Given the description of an element on the screen output the (x, y) to click on. 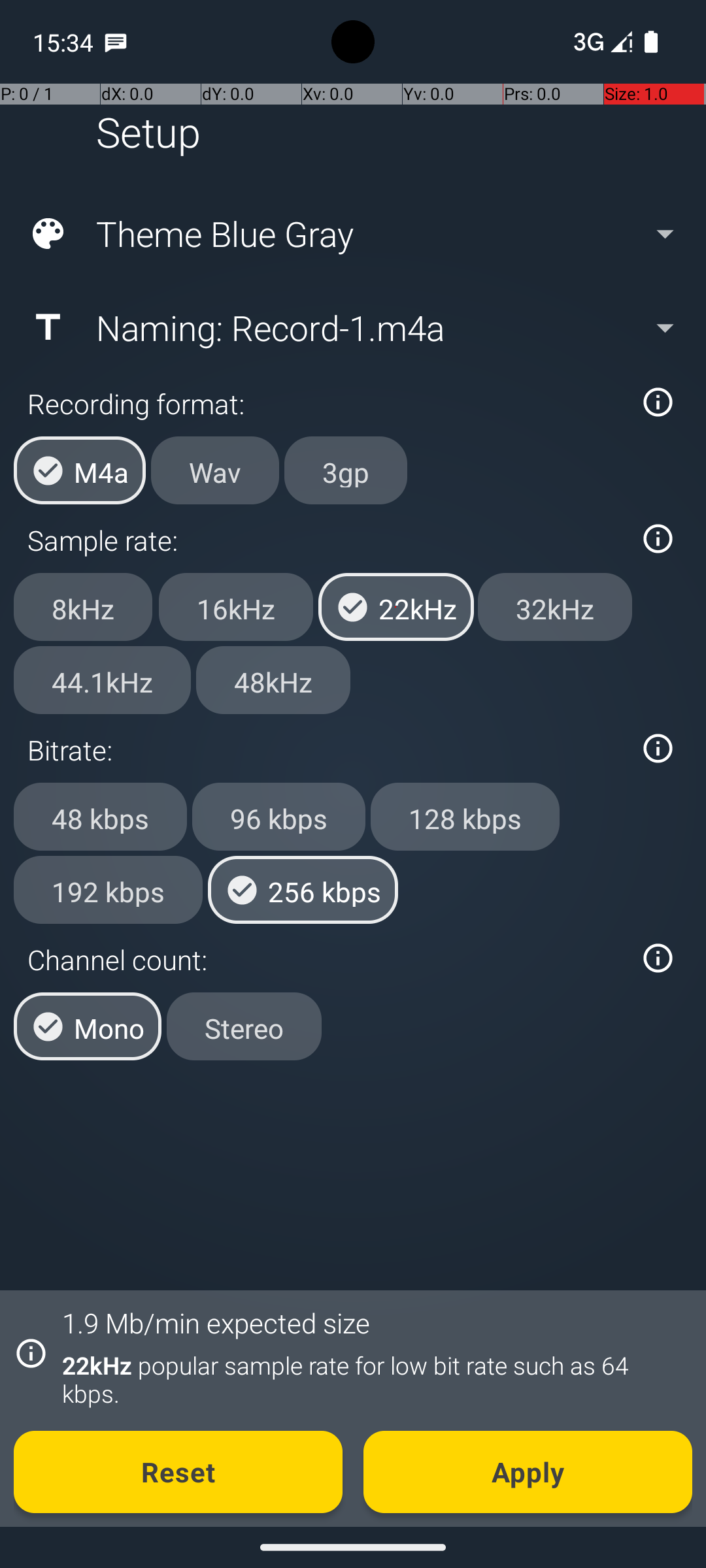
1.9 Mb/min expected size Element type: android.widget.TextView (215, 1322)
22kHz popular sample rate for low bit rate such as 64 kbps. Element type: android.widget.TextView (370, 1378)
Phone two bars. Element type: android.widget.FrameLayout (600, 41)
